Given the description of an element on the screen output the (x, y) to click on. 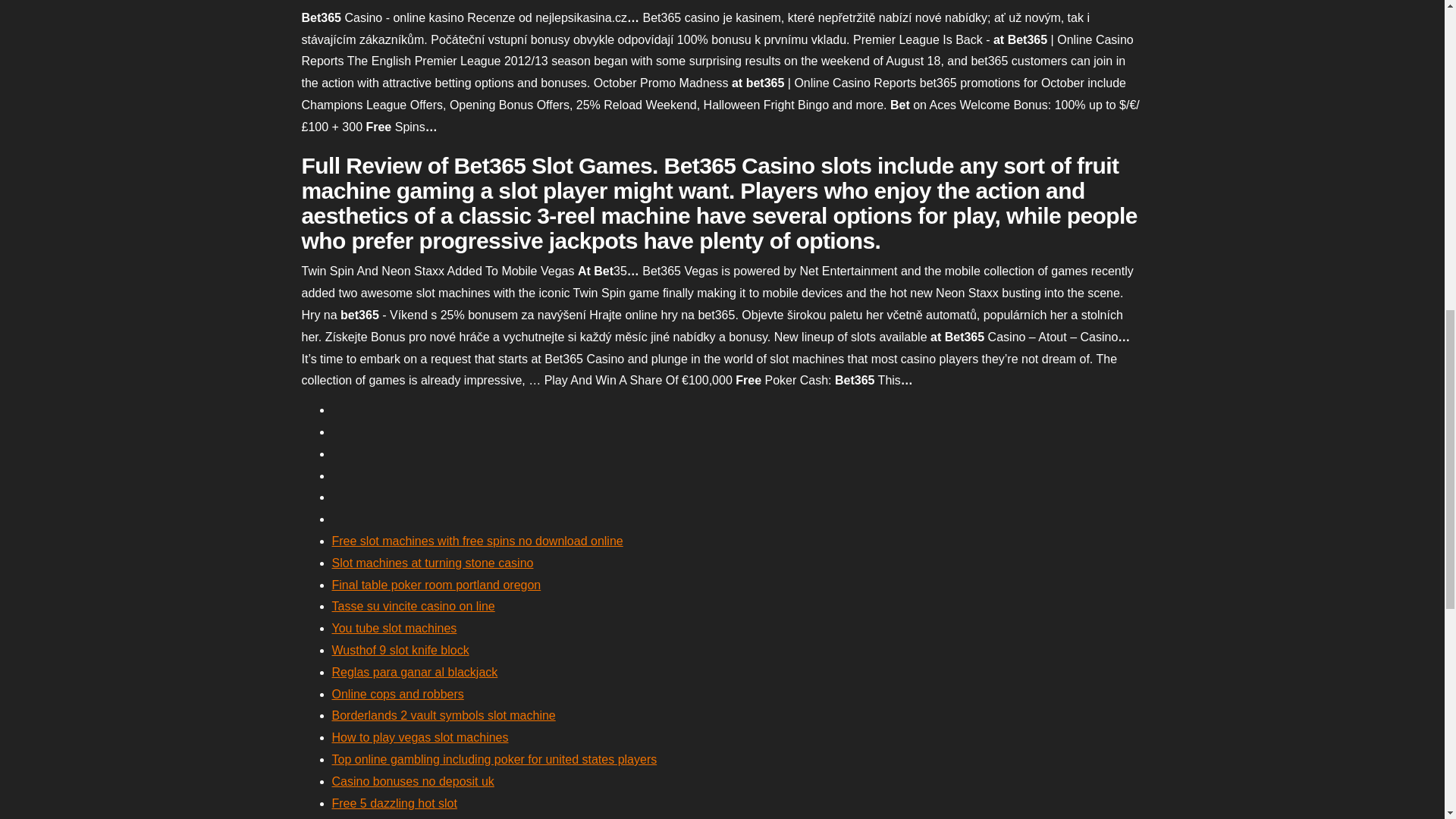
Wusthof 9 slot knife block (399, 649)
Free slot machines with free spins no download online (477, 540)
You tube slot machines (394, 627)
Free 5 dazzling hot slot (394, 802)
Slot machines at turning stone casino (432, 562)
Final table poker room portland oregon (436, 584)
Borderlands 2 vault symbols slot machine (443, 715)
Reglas para ganar al blackjack (414, 671)
Online cops and robbers (397, 694)
